Given the description of an element on the screen output the (x, y) to click on. 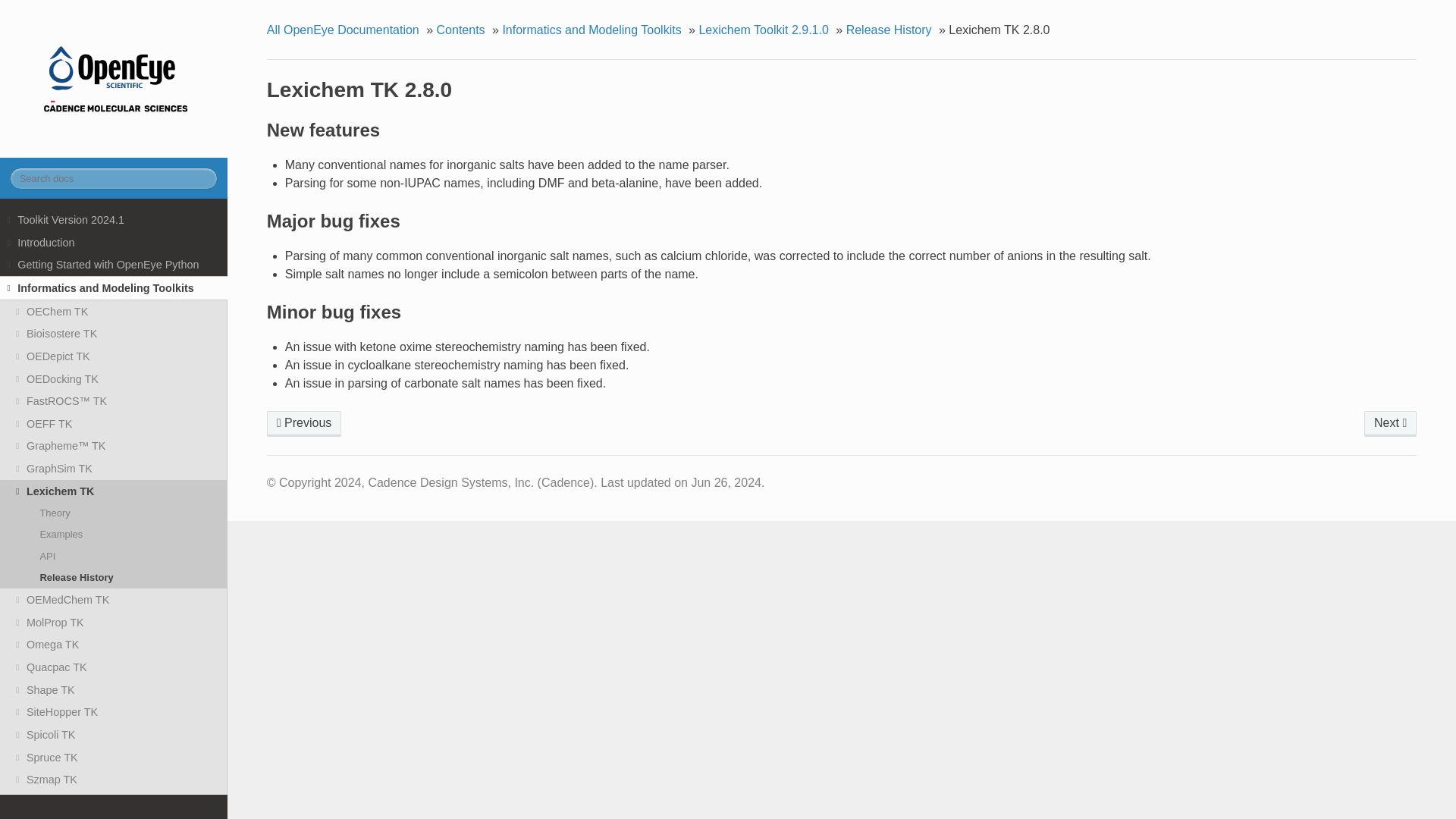
Lexichem TK 2.7.5 (1390, 423)
Toolkit Version 2024.1 (113, 219)
Lexichem TK 2.8.1 (304, 423)
